Given the description of an element on the screen output the (x, y) to click on. 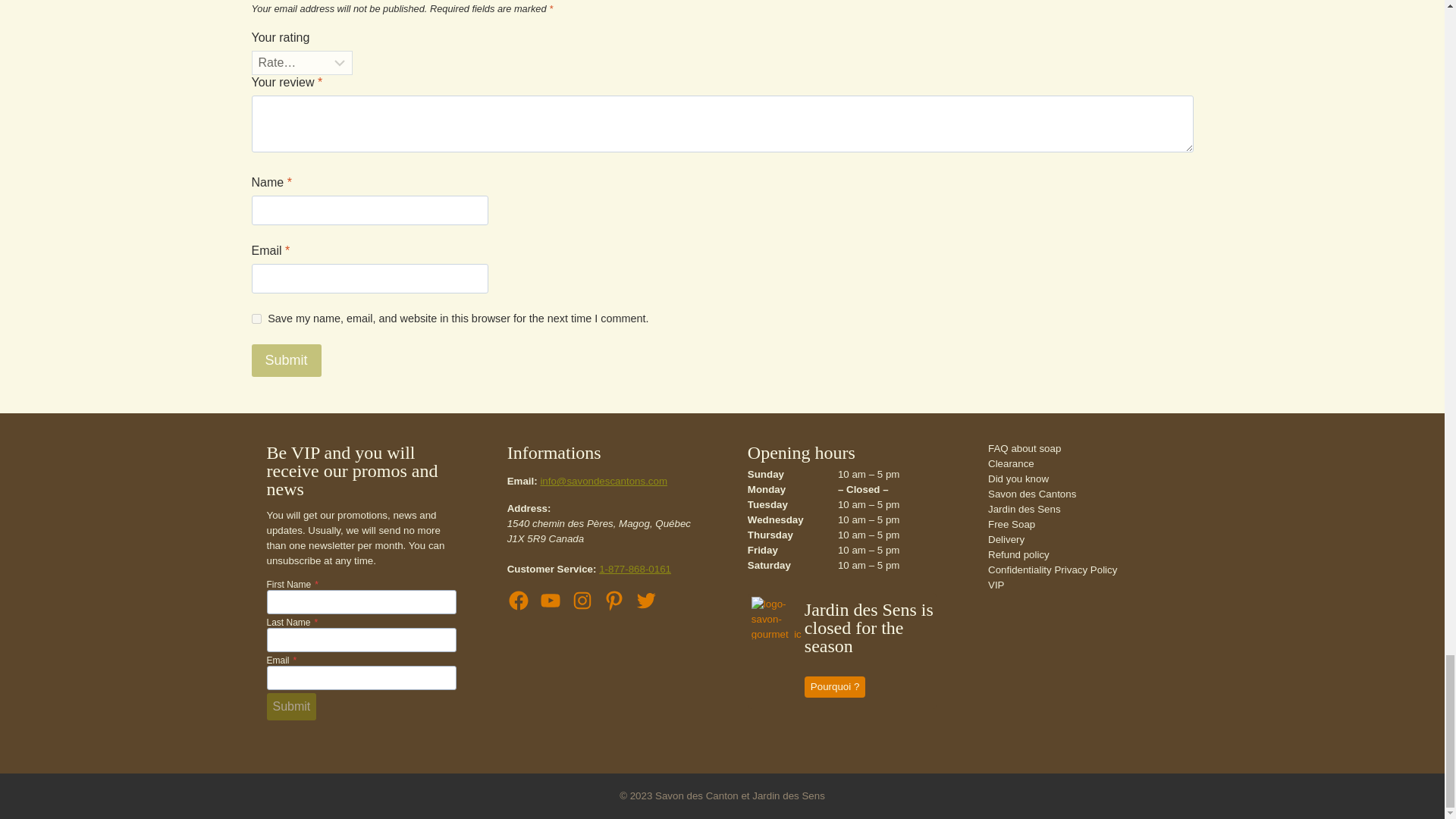
yes (256, 318)
Submit (286, 359)
